Given the description of an element on the screen output the (x, y) to click on. 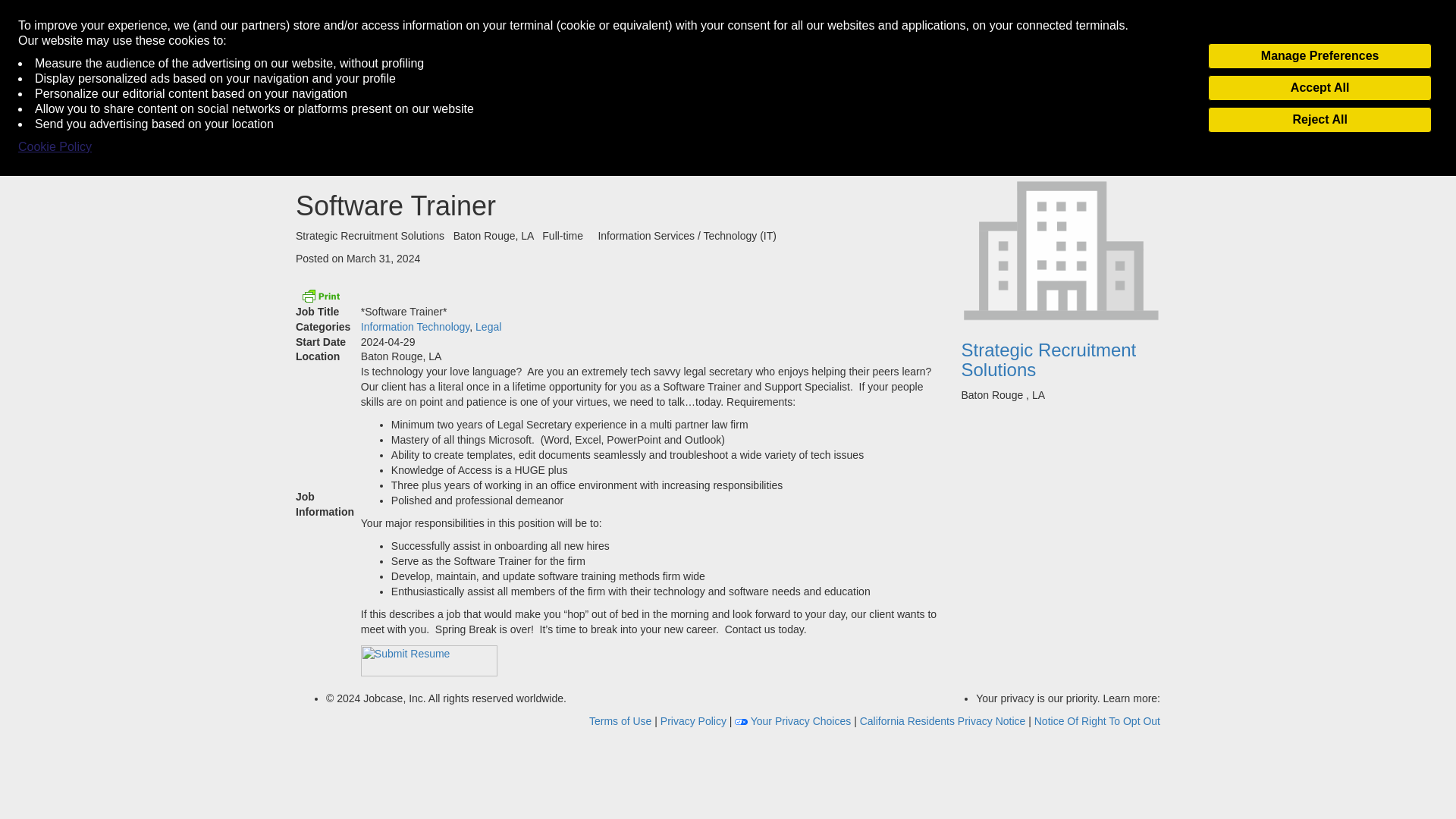
Manage Preferences (1319, 55)
Employer Login (444, 71)
Legal (488, 326)
Post a Job (1125, 12)
Reject All (1319, 119)
Privacy Policy (695, 720)
Notice Of Right To Opt Out (1096, 720)
Jobs for Legal (488, 326)
Want to post a job around Louisiana? (591, 71)
Get Job Alerts (351, 71)
Information Technology (414, 326)
California Residents Privacy Notice (944, 720)
Terms of Use (621, 720)
Accept All (1319, 87)
Submit Resume (429, 660)
